Given the description of an element on the screen output the (x, y) to click on. 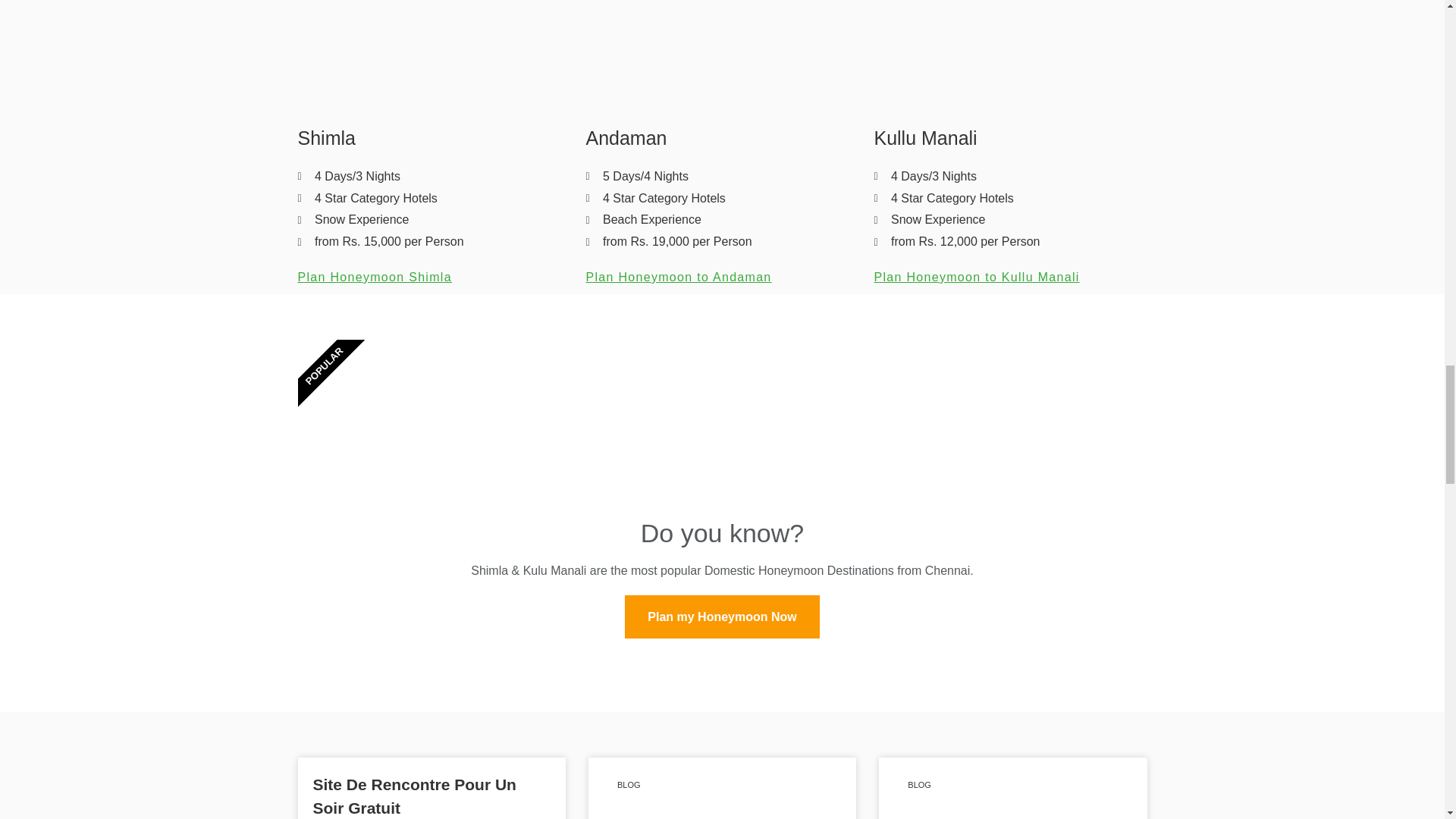
Plan Honeymoon to Andaman (678, 277)
Site De Rencontre Pour Un Soir Gratuit (414, 796)
Plan my Honeymoon Now (722, 616)
Home 41 (1010, 55)
Home 43 (1013, 788)
Plan Honeymoon Shimla (374, 277)
Plan Honeymoon to Kullu Manali (975, 277)
Home 42 (722, 788)
Home 40 (722, 55)
Home 39 (433, 55)
